Given the description of an element on the screen output the (x, y) to click on. 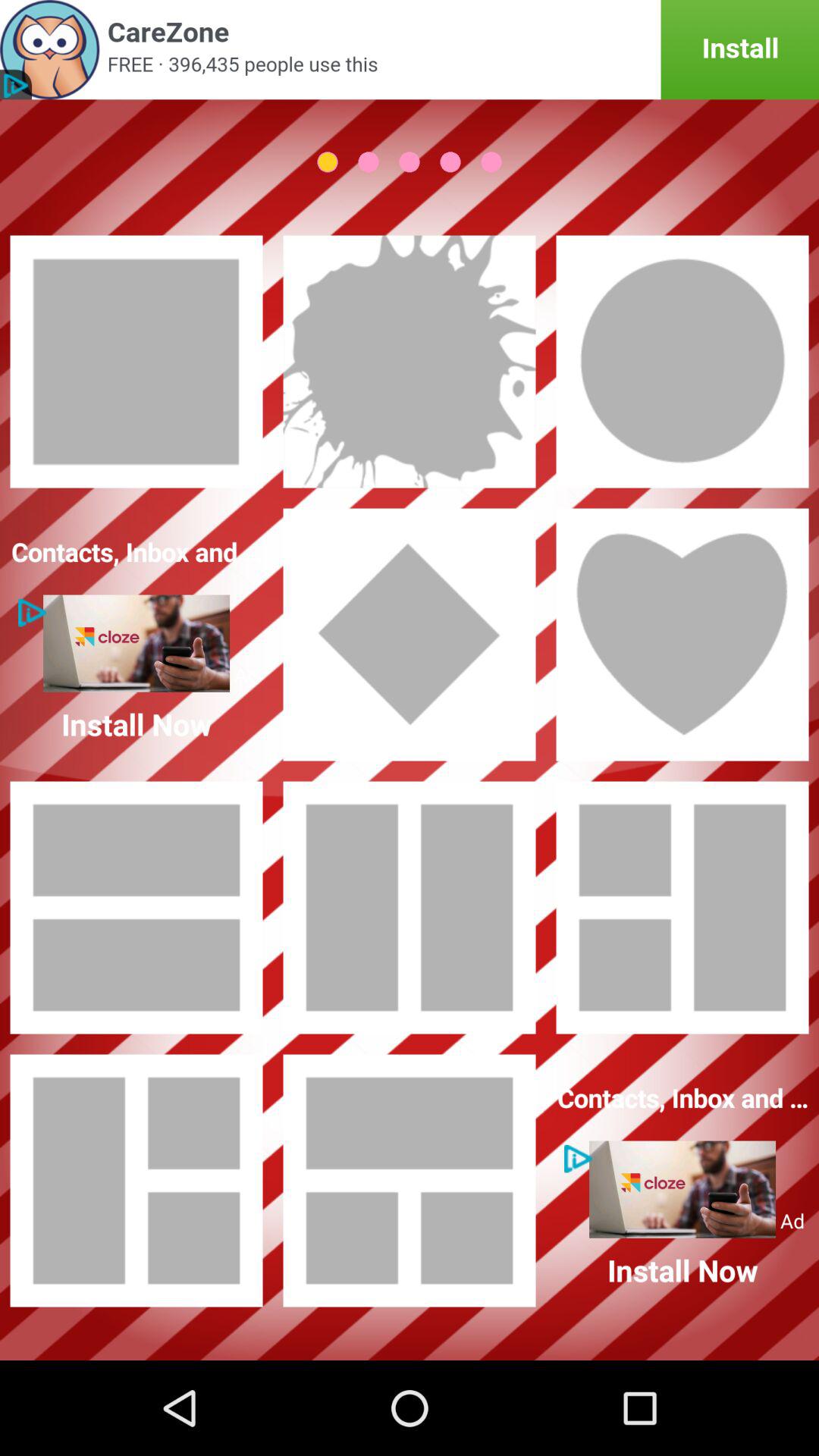
select frame (409, 361)
